Given the description of an element on the screen output the (x, y) to click on. 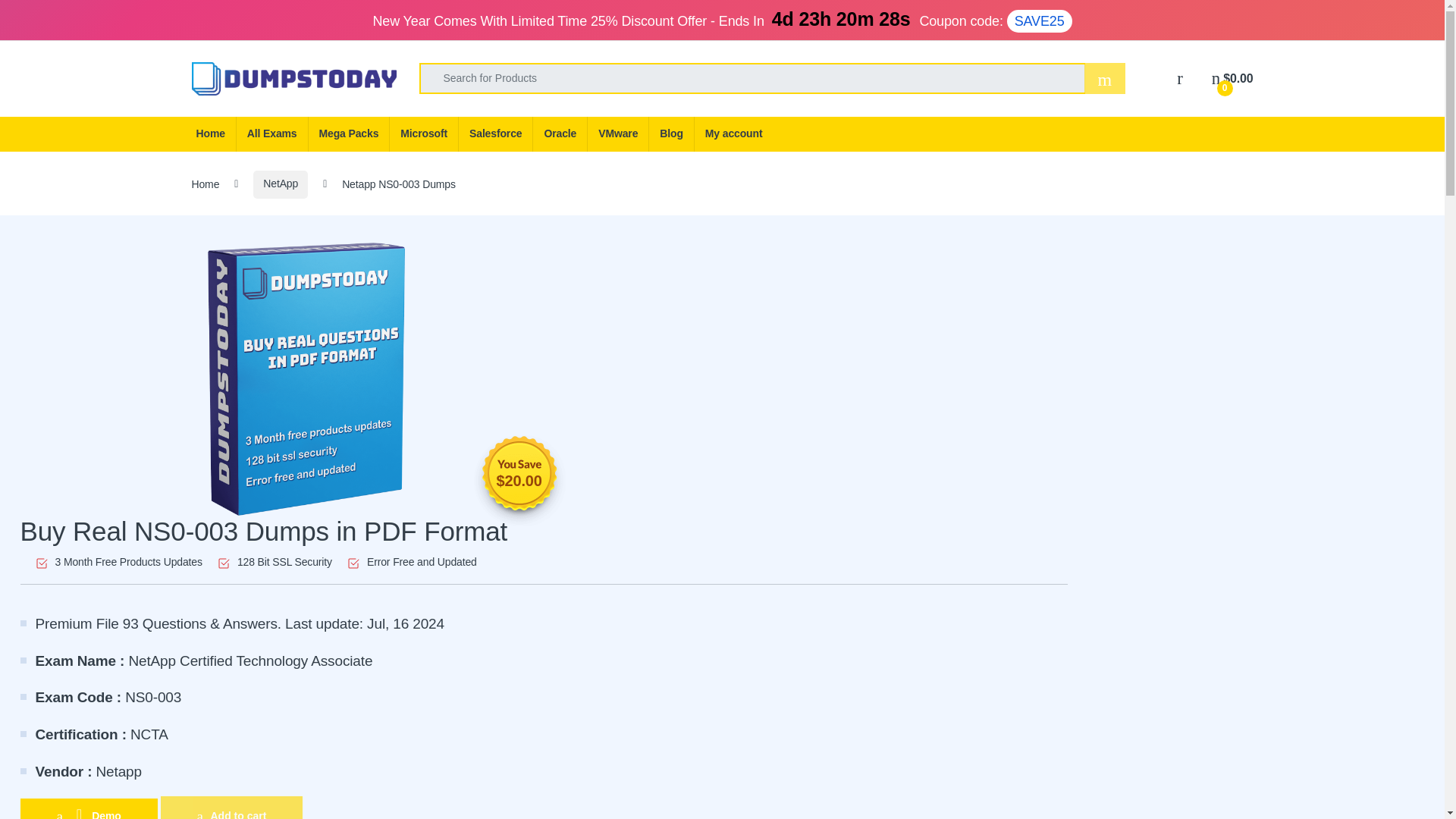
Home (209, 134)
My account (733, 134)
VMware (616, 134)
Oracle (559, 134)
Blog (670, 134)
Salesforce (495, 134)
My account (733, 134)
Add to cart (231, 807)
Demo (88, 808)
Blog (670, 134)
Mega Packs (348, 134)
All Exams (271, 134)
Microsoft (423, 134)
Mega Packs (348, 134)
VMware (616, 134)
